Given the description of an element on the screen output the (x, y) to click on. 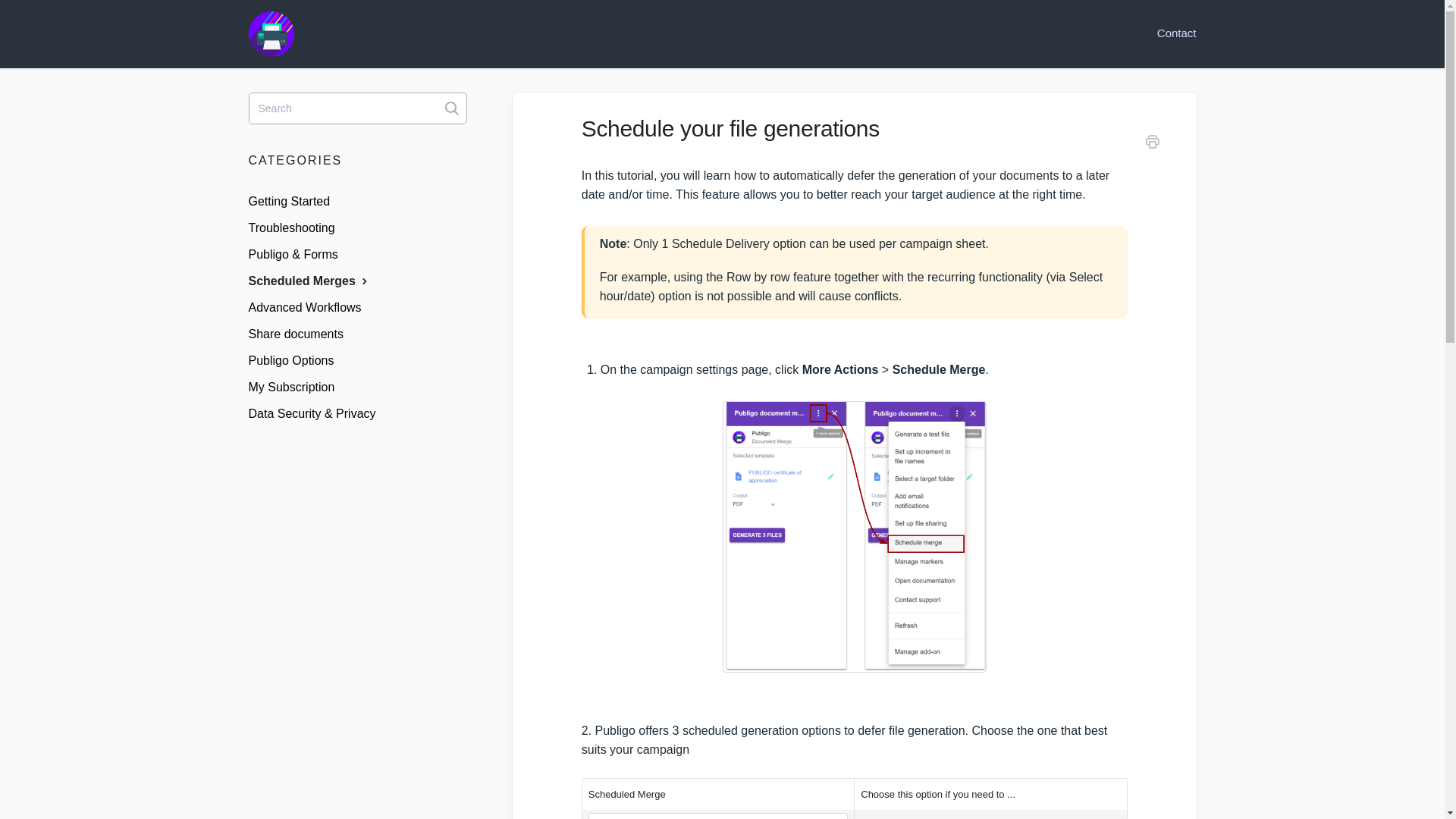
Contact (1168, 33)
Scheduled Merges (316, 281)
Getting Started (295, 201)
search-query (357, 108)
Publigo Options (297, 360)
Troubleshooting (297, 228)
My Subscription (297, 387)
Toggle Search (451, 108)
Advanced Workflows (310, 307)
Share documents (301, 334)
